Given the description of an element on the screen output the (x, y) to click on. 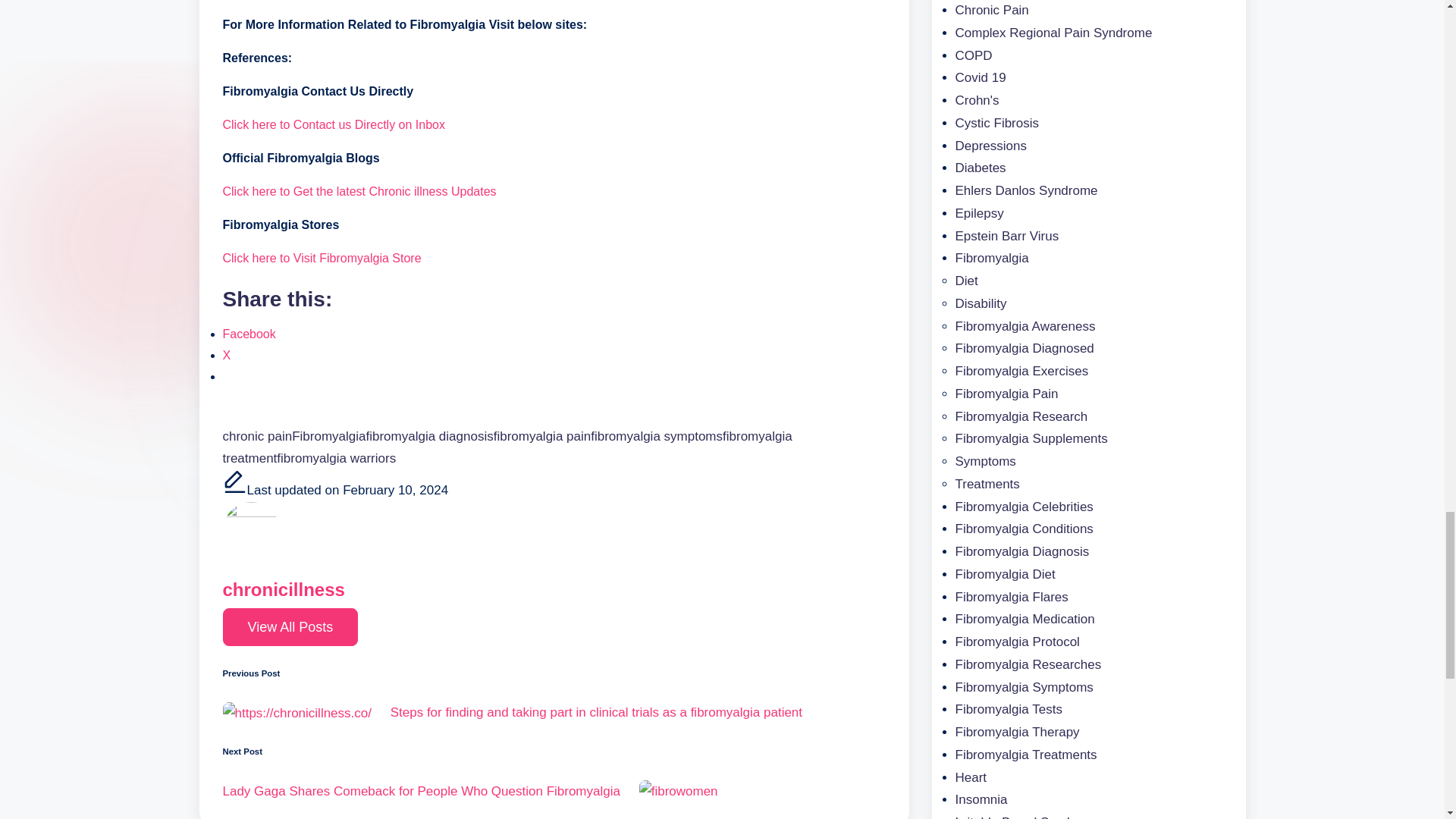
Click to share on X (226, 354)
Click to share on Facebook (249, 333)
